Given the description of an element on the screen output the (x, y) to click on. 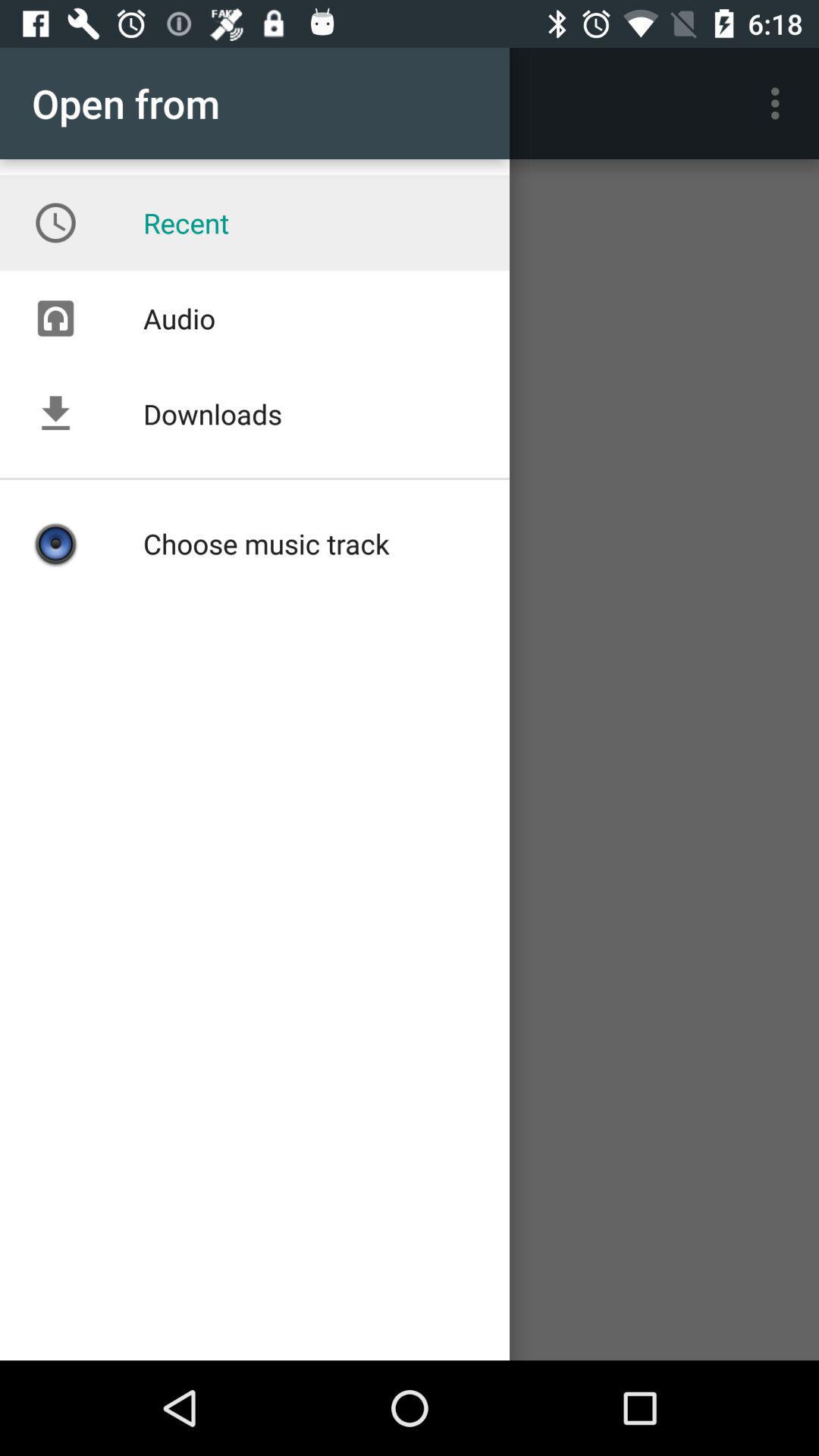
select the icon which is under the recent (55, 318)
select the icon which is under the downloads (55, 543)
select the symbol which is to the immediate left of recent (55, 223)
click on the symbol which is left hand side of the text download (55, 414)
